Given the description of an element on the screen output the (x, y) to click on. 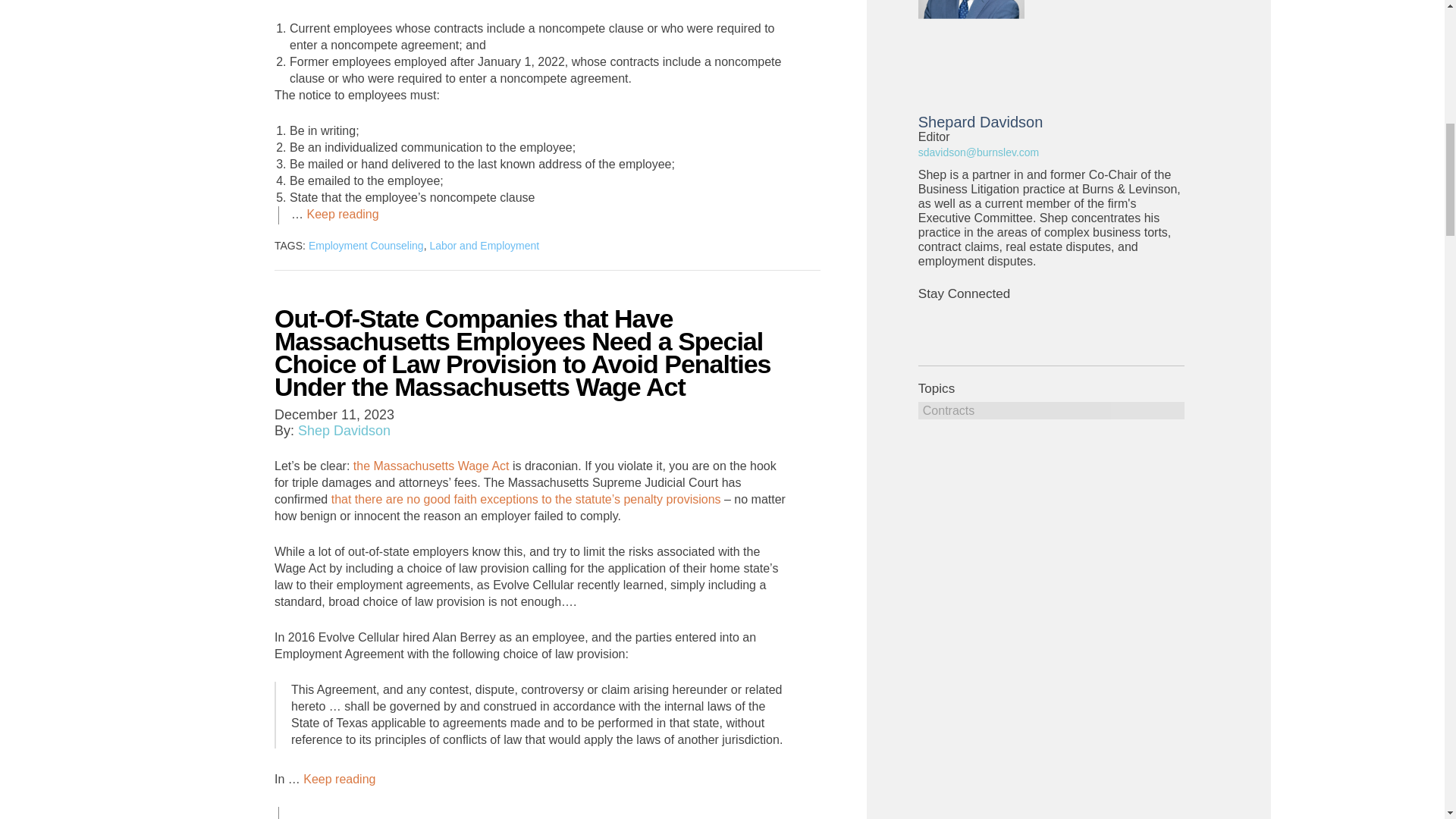
the Massachusetts Wage Act (431, 466)
Labor and Employment (483, 245)
Employment Counseling (365, 245)
Monday, December 11, 2023, 1:26 pm (334, 414)
Keep reading (338, 780)
Shep Davidson (344, 430)
Shep Davidson (344, 430)
Keep reading (341, 214)
